Given the description of an element on the screen output the (x, y) to click on. 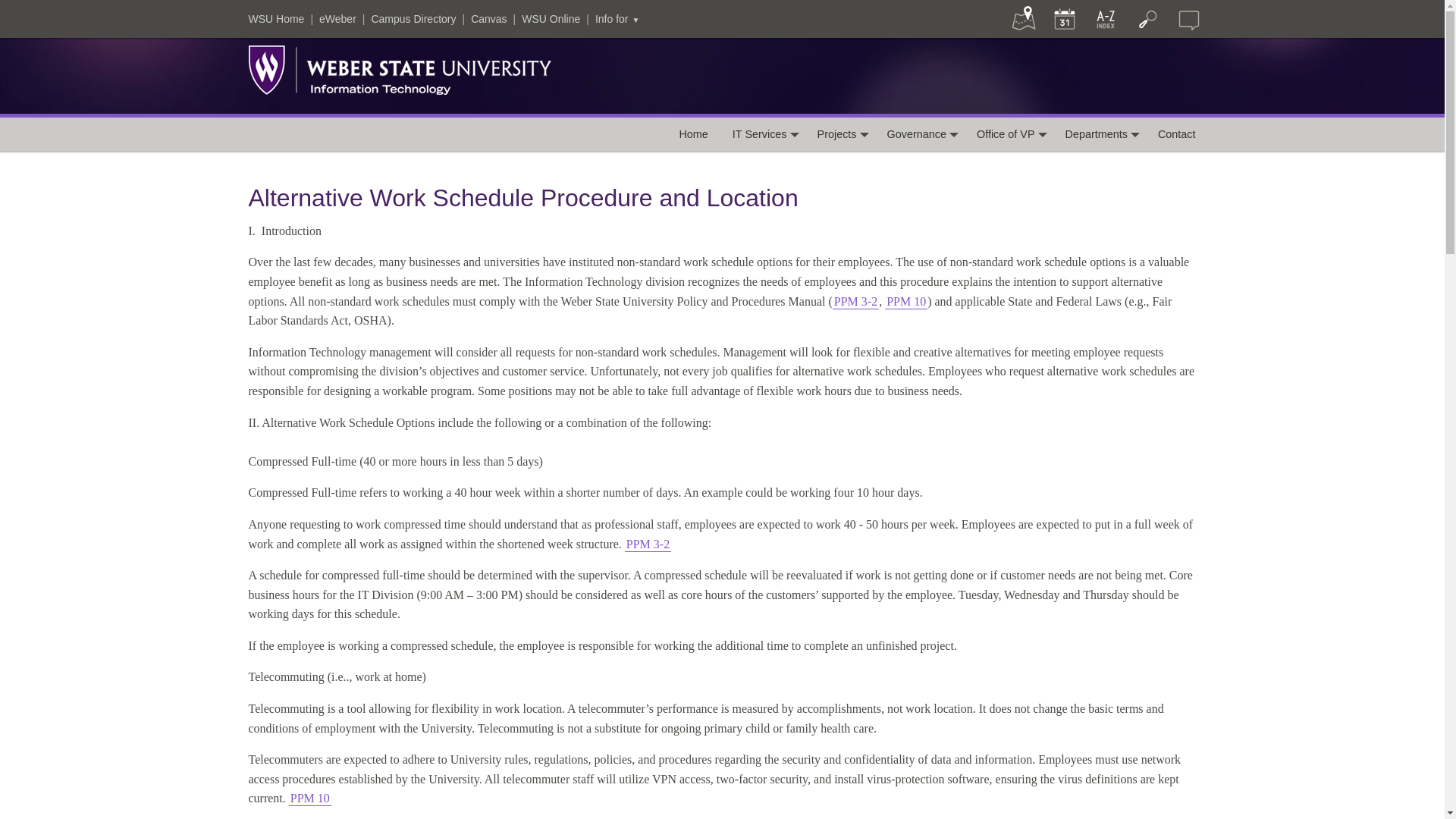
Info for (617, 19)
eWeber (337, 19)
Campus Directory (413, 19)
Canvas (488, 19)
WSU Home (276, 19)
WSU Online (550, 19)
